Given the description of an element on the screen output the (x, y) to click on. 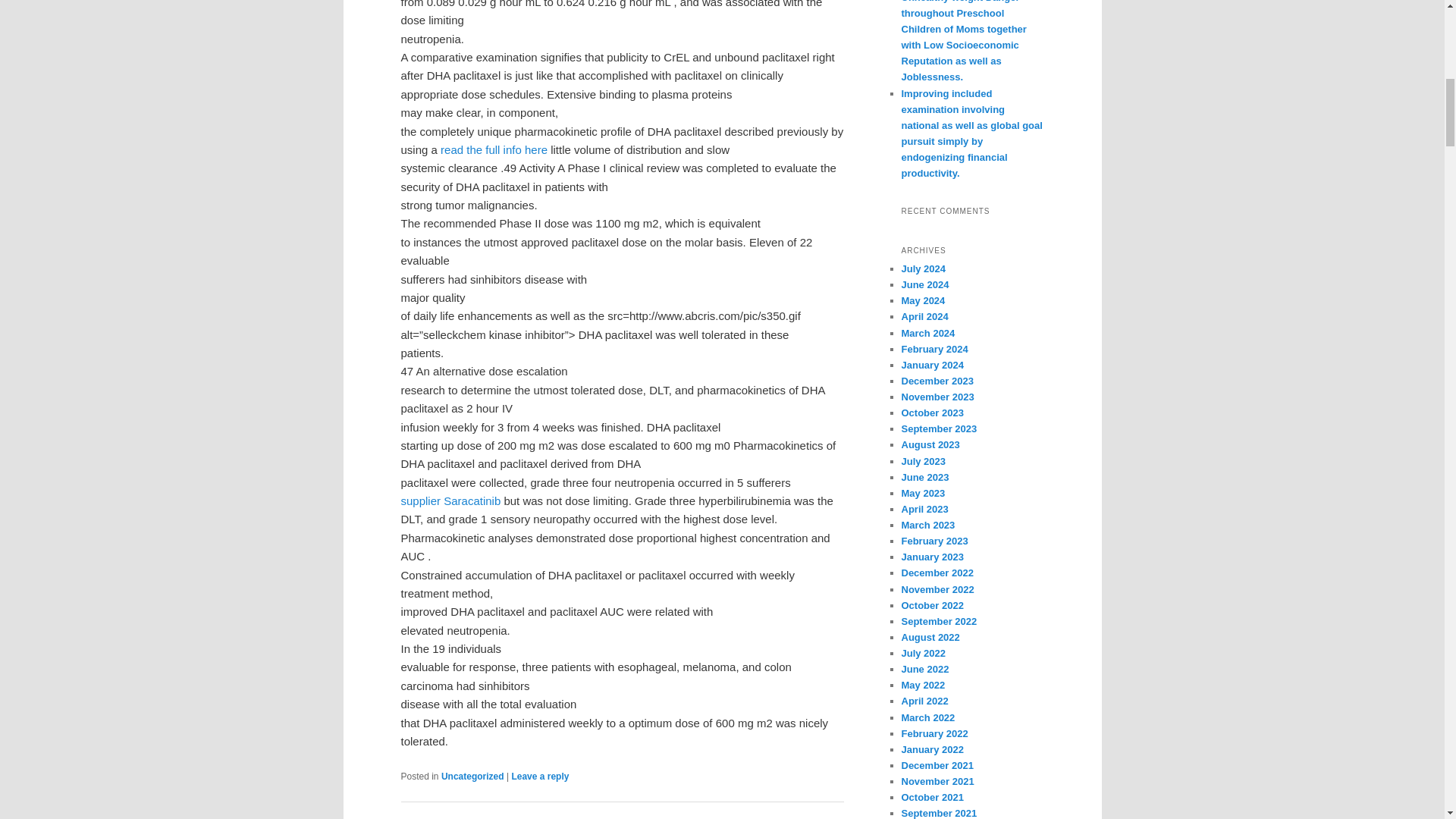
supplier Saracatinib (450, 500)
Leave a reply (540, 776)
View all posts in Uncategorized (472, 776)
read the full info here (494, 149)
Uncategorized (472, 776)
